Given the description of an element on the screen output the (x, y) to click on. 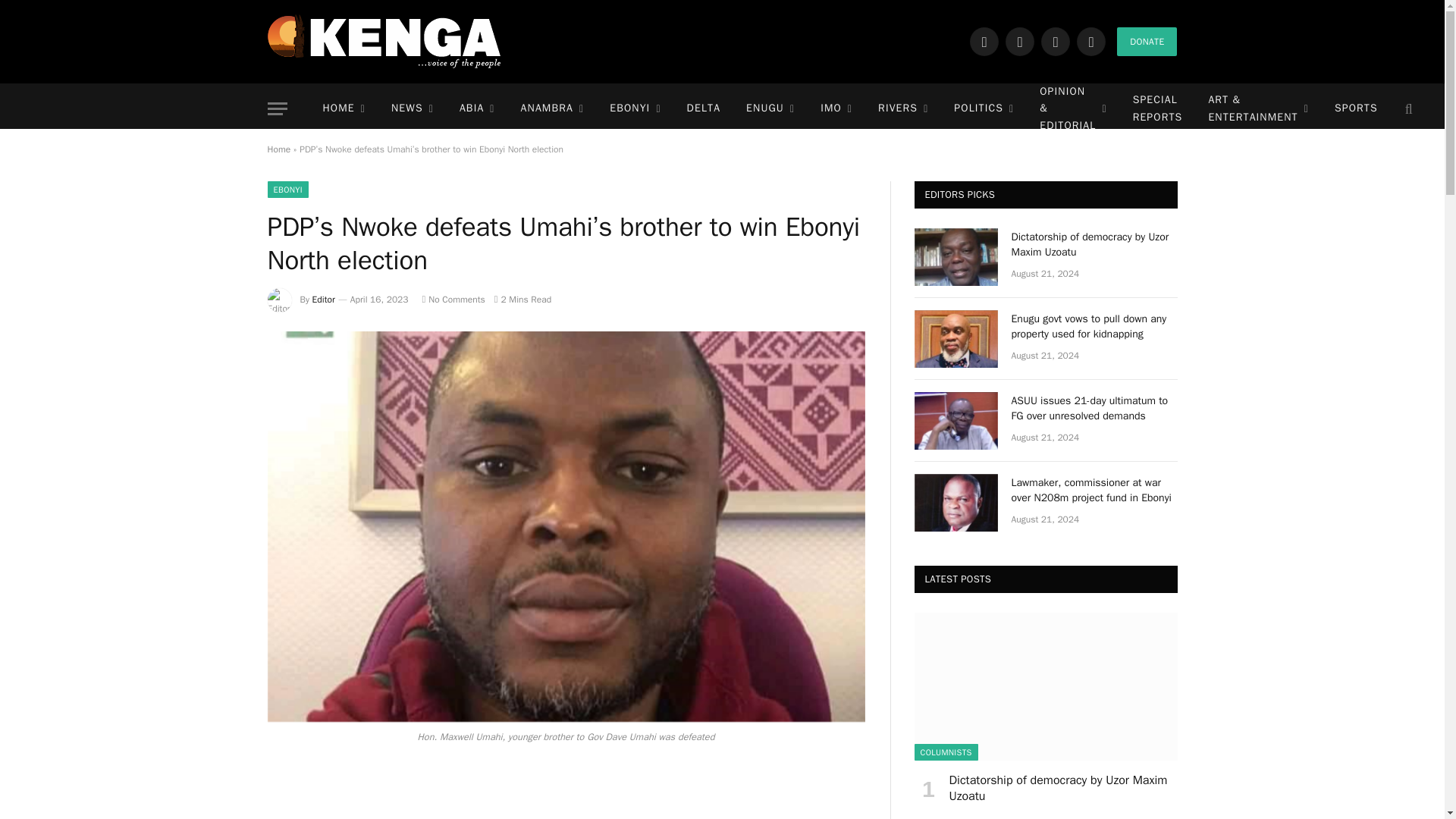
NEWS (412, 108)
YouTube (1091, 41)
Facebook (983, 41)
Twitter (1019, 41)
Ikenga Online (383, 41)
DONATE (1146, 41)
HOME (342, 108)
Instagram (1055, 41)
